Given the description of an element on the screen output the (x, y) to click on. 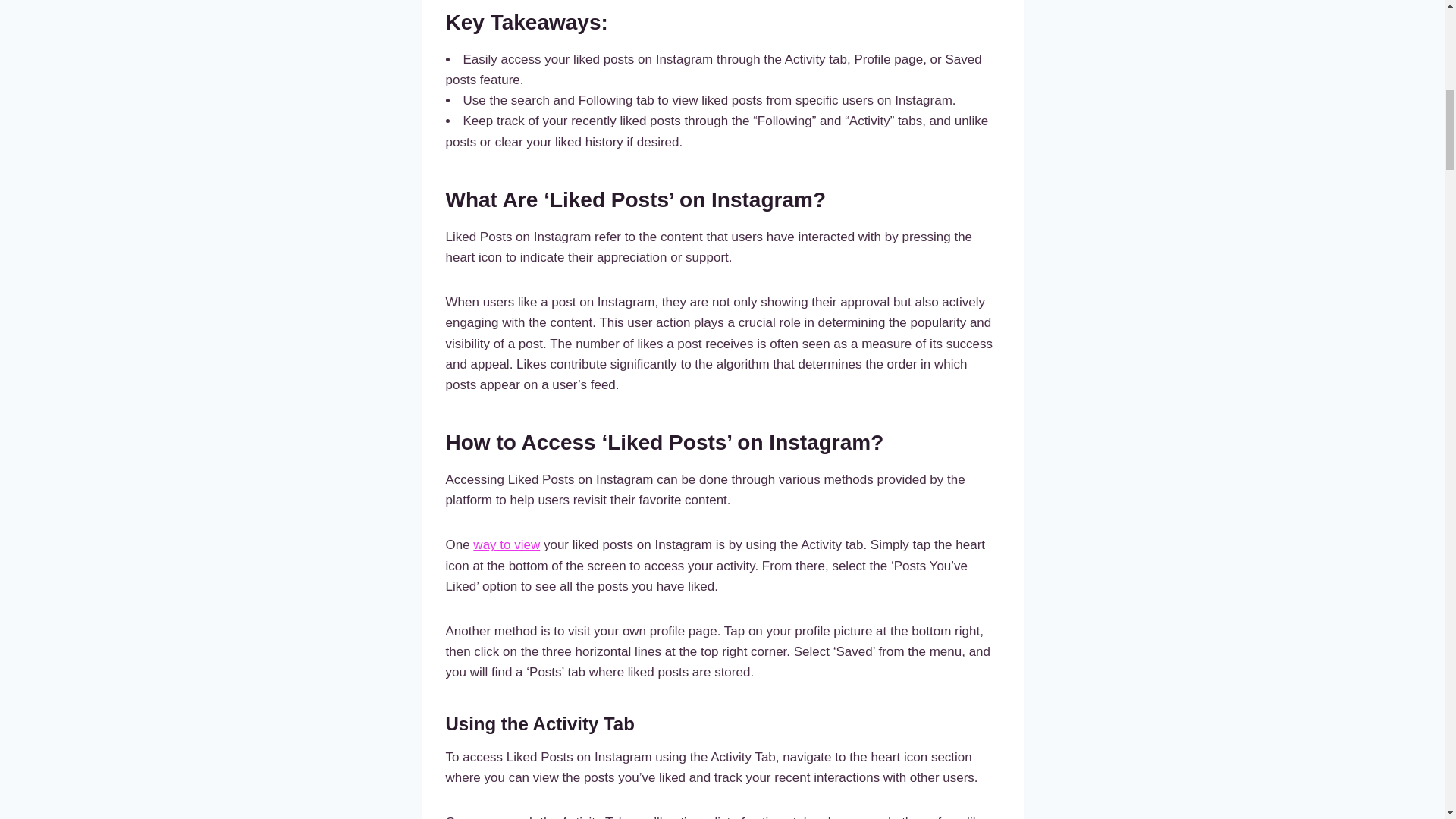
way to view (506, 544)
